Given the description of an element on the screen output the (x, y) to click on. 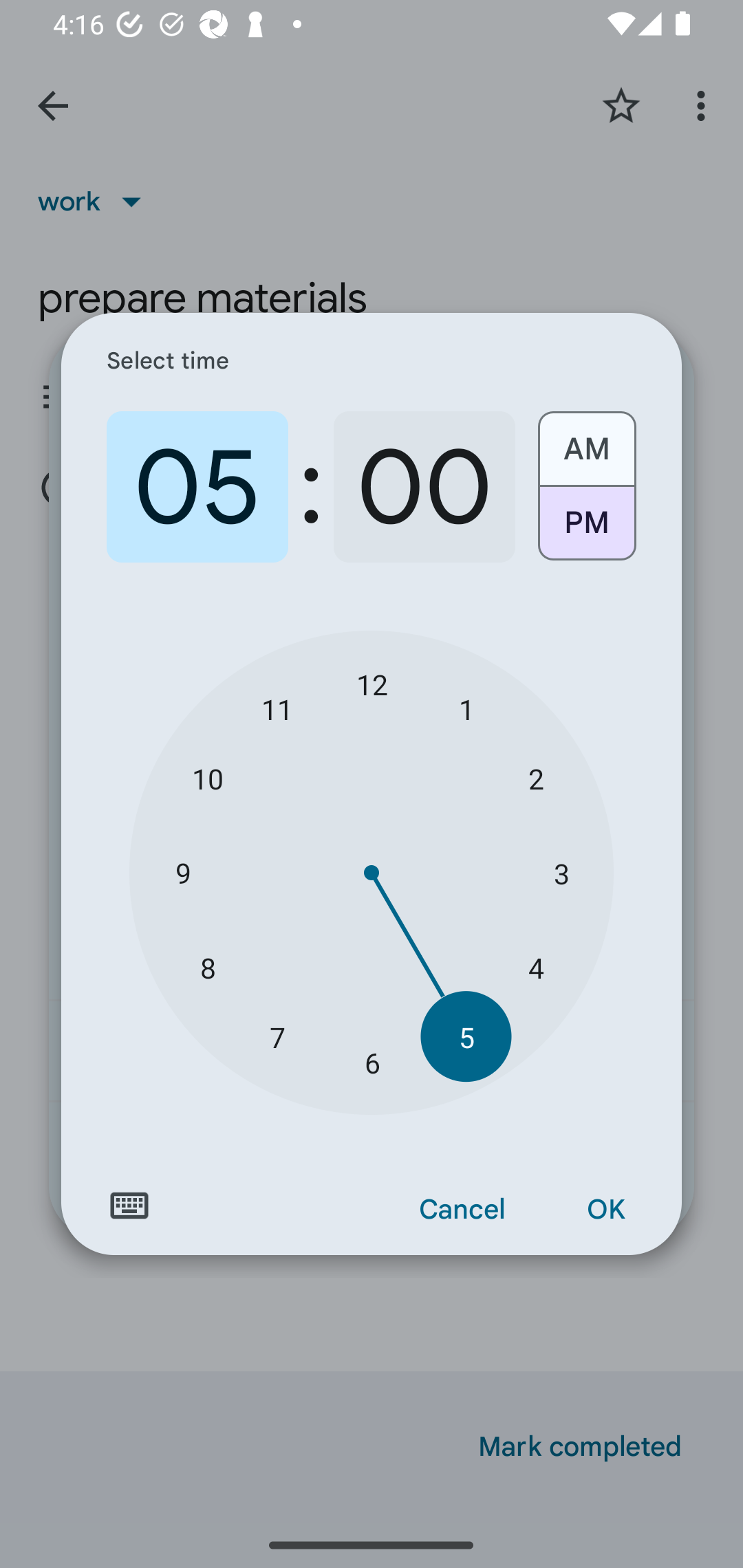
AM (586, 441)
05 5 o'clock (197, 486)
00 0 minutes (424, 486)
PM (586, 529)
12 12 o'clock (371, 683)
11 11 o'clock (276, 708)
1 1 o'clock (466, 708)
10 10 o'clock (207, 778)
2 2 o'clock (535, 778)
9 9 o'clock (182, 872)
3 3 o'clock (561, 872)
8 8 o'clock (207, 966)
4 4 o'clock (535, 966)
7 7 o'clock (276, 1035)
5 5 o'clock (466, 1035)
6 6 o'clock (371, 1062)
Switch to text input mode for the time input. (128, 1205)
Cancel (462, 1209)
OK (605, 1209)
